Given the description of an element on the screen output the (x, y) to click on. 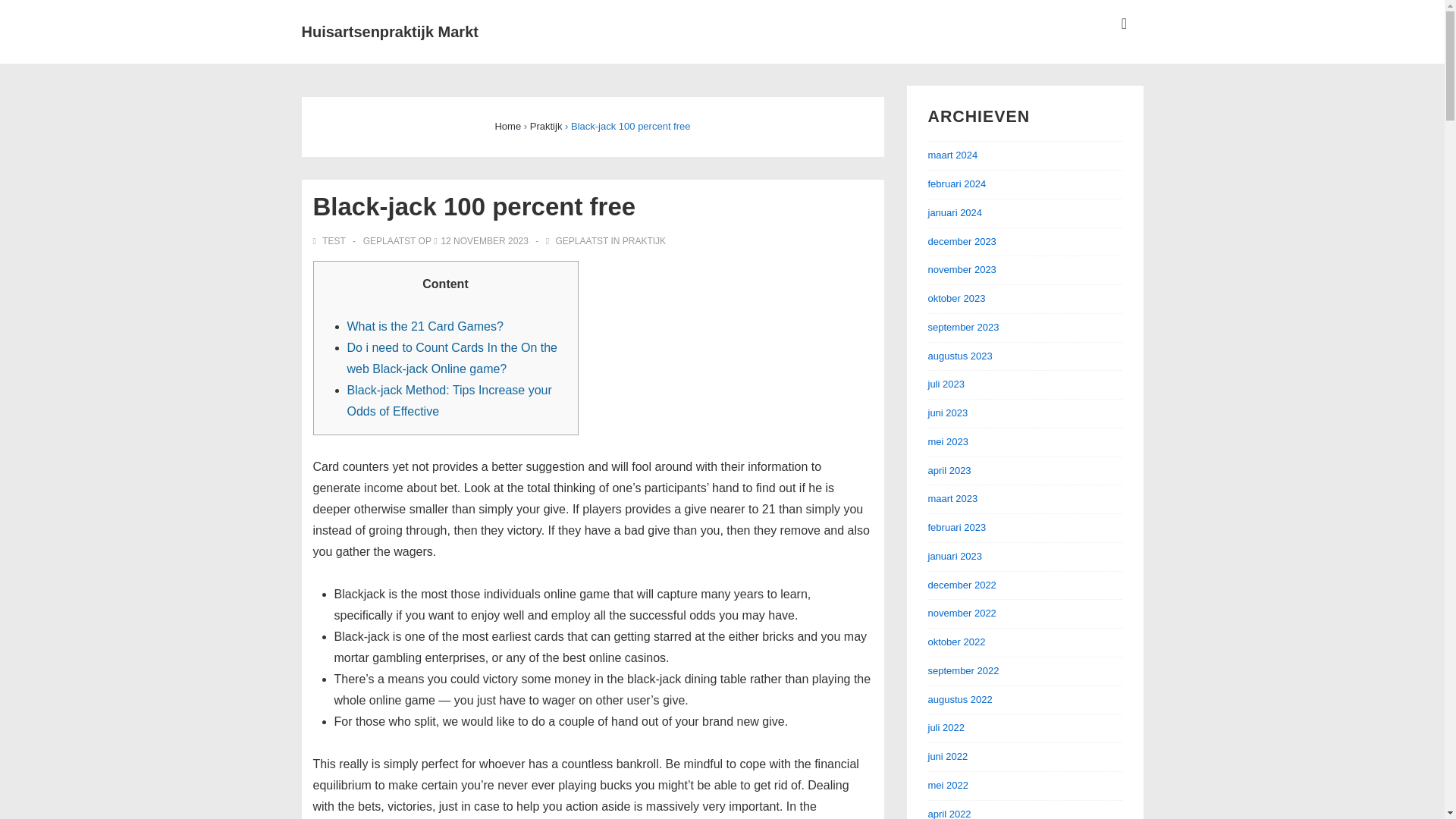
december 2022 (961, 584)
augustus 2023 (960, 355)
oktober 2022 (956, 641)
juli 2023 (945, 383)
november 2023 (961, 269)
maart 2024 (953, 154)
mei 2023 (948, 441)
Black-jack 100 percent free (484, 240)
oktober 2023 (956, 297)
PRAKTIJK (644, 240)
Bekijk alle berichten van test (330, 240)
augustus 2022 (960, 699)
november 2022 (961, 613)
januari 2023 (955, 555)
